Given the description of an element on the screen output the (x, y) to click on. 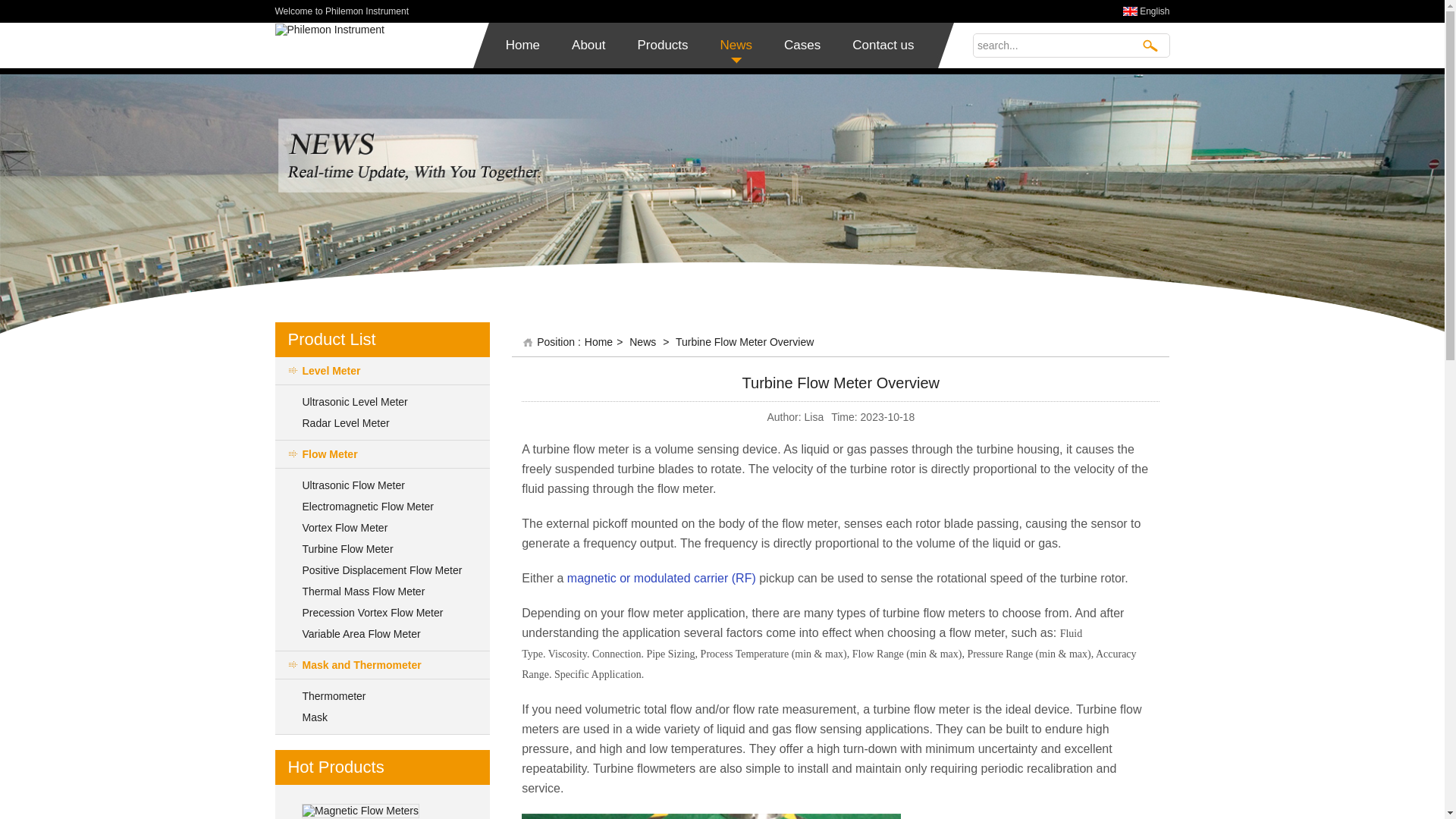
Level Meter Element type: text (381, 371)
Ultrasonic Level Meter Element type: text (354, 401)
Ultrasonic Flow Meter Element type: text (352, 485)
Thermal Mass Flow Meter Element type: text (362, 591)
Philemon Instrument Element type: hover (328, 28)
Mask Element type: text (313, 717)
Radar Level Meter Element type: text (345, 423)
English Element type: text (1154, 11)
Products Element type: text (662, 45)
Cases Element type: text (802, 45)
Turbine Flow Meter Element type: text (346, 548)
Flow Meter Element type: text (381, 454)
Turbine Flow Meter Overview Element type: text (744, 341)
Contact us Element type: text (882, 45)
Product List Element type: text (331, 338)
Home Element type: text (598, 341)
Thermometer Element type: text (333, 696)
Electromagnetic Flow Meter Element type: text (367, 506)
Vortex Flow Meter Element type: text (344, 527)
News Element type: text (642, 341)
Precession Vortex Flow Meter Element type: text (371, 612)
News Element type: text (736, 45)
Home Element type: text (522, 45)
Positive Displacement Flow Meter Element type: text (381, 570)
Mask and Thermometer Element type: text (381, 665)
Variable Area Flow Meter Element type: text (360, 633)
magnetic or modulated carrier (RF) Element type: text (661, 577)
search... Element type: hover (1052, 45)
Hot Products Element type: text (335, 766)
About Element type: text (588, 45)
